Given the description of an element on the screen output the (x, y) to click on. 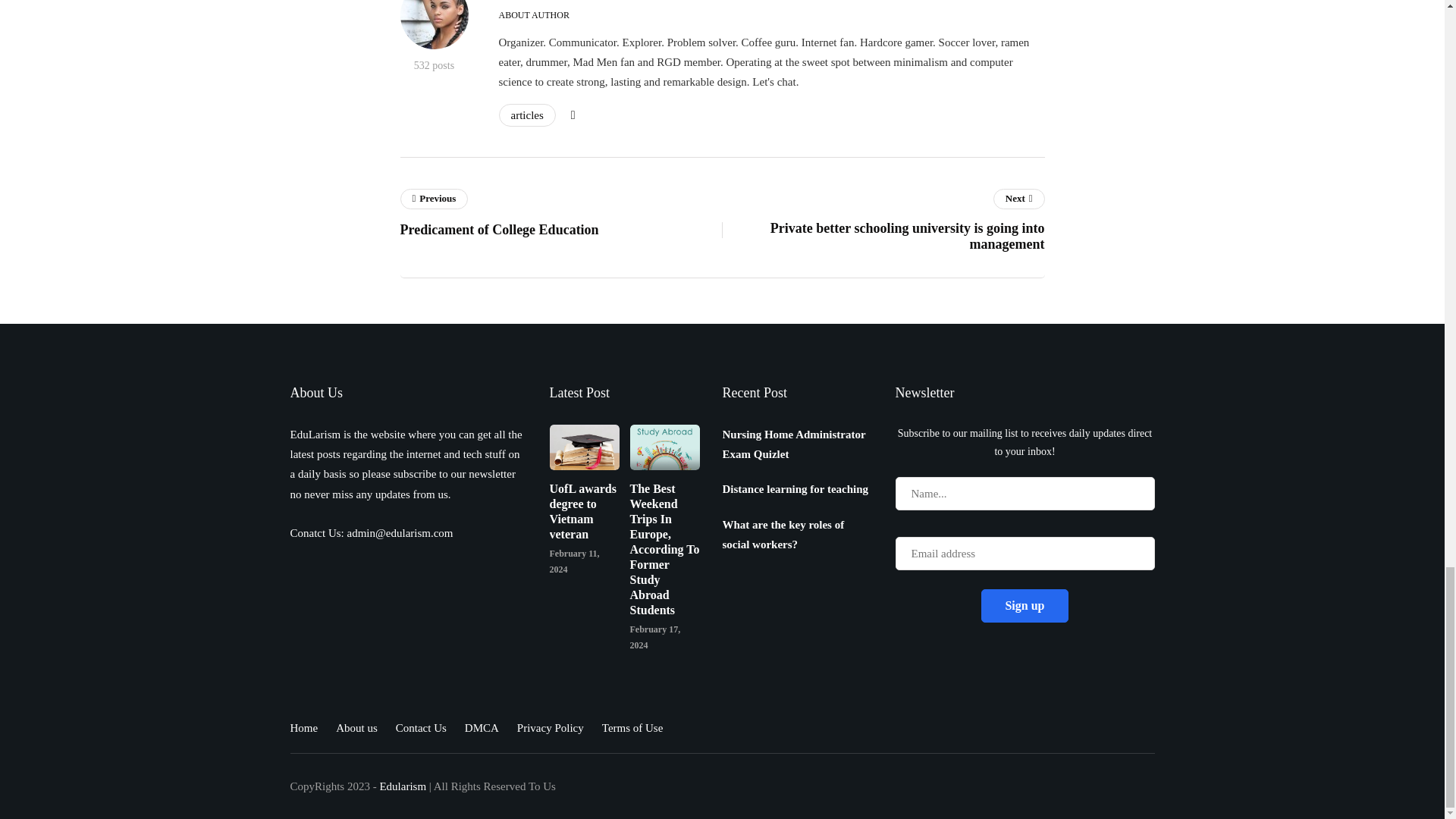
Sign up (1024, 605)
